Given the description of an element on the screen output the (x, y) to click on. 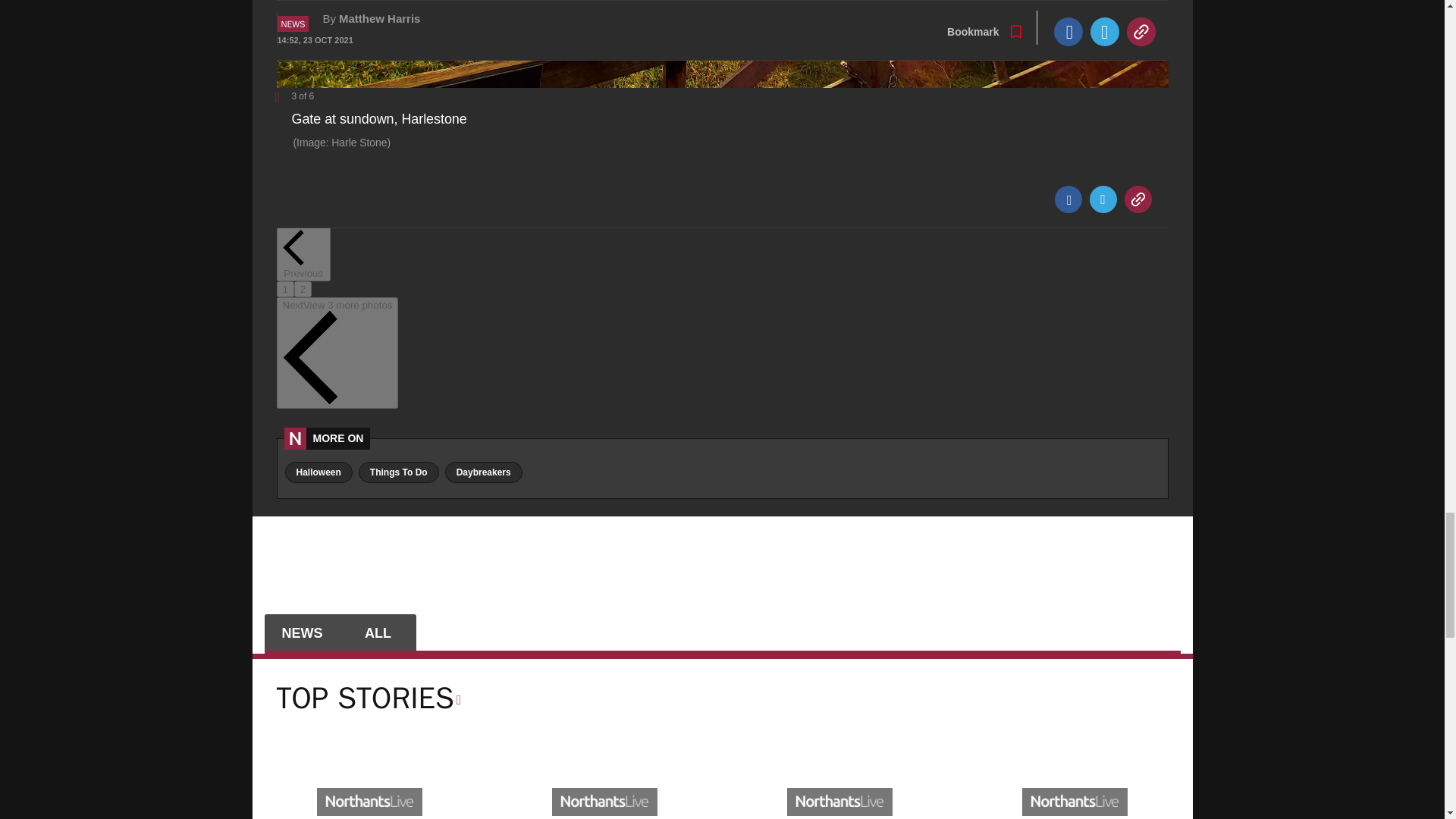
Twitter (1102, 198)
Facebook (1067, 198)
